Given the description of an element on the screen output the (x, y) to click on. 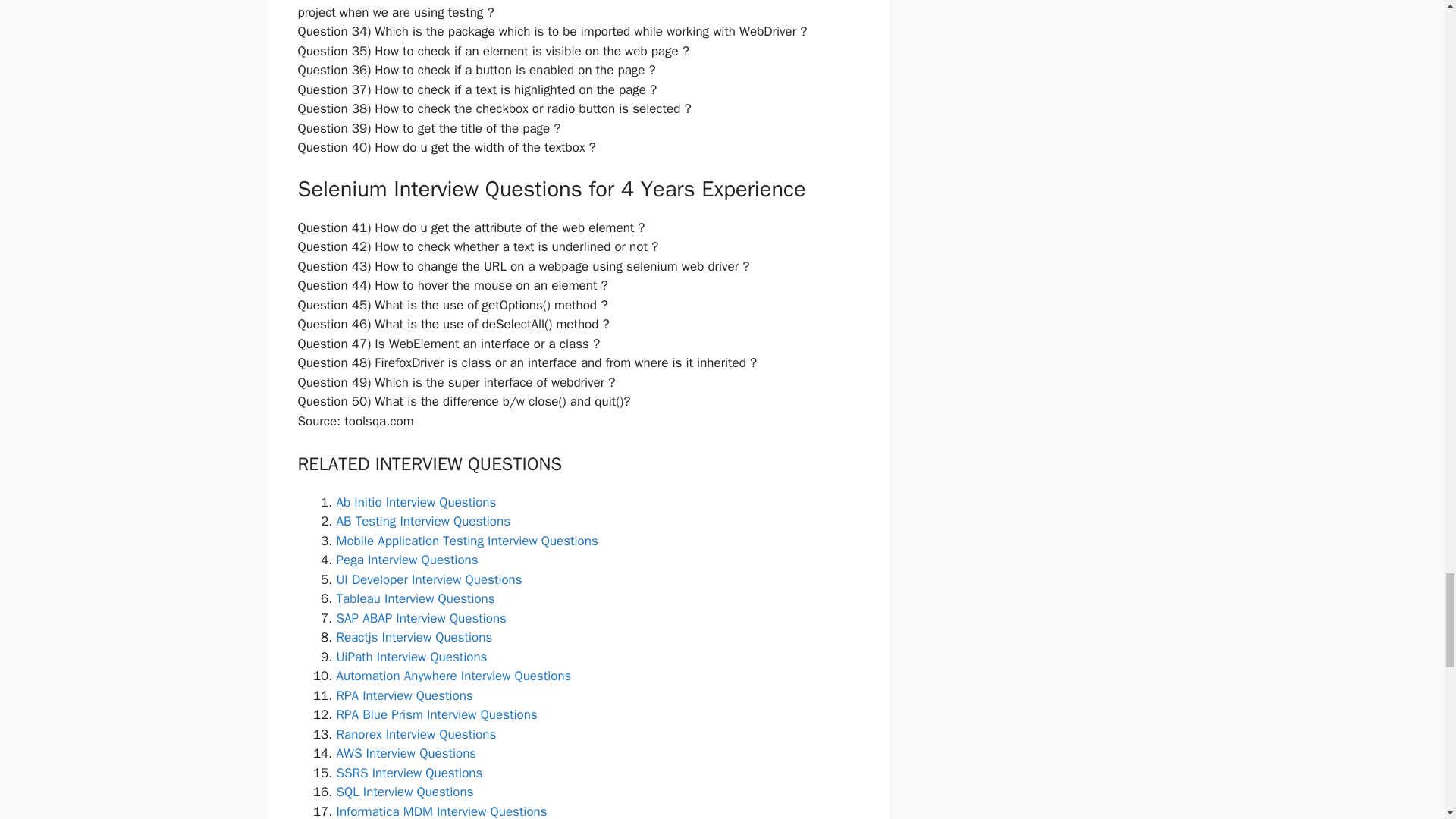
RPA Blue Prism Interview Questions (436, 714)
Ab Initio Interview Questions (416, 502)
Automation Anywhere Interview Questions (454, 675)
AB Testing Interview Questions (423, 521)
Reactjs Interview Questions (414, 637)
RPA Interview Questions (404, 695)
UiPath Interview Questions (411, 657)
Mobile Application Testing Interview Questions (467, 540)
UI Developer Interview Questions (429, 579)
SAP ABAP Interview Questions (421, 618)
Pega Interview Questions (407, 560)
Tableau Interview Questions (415, 598)
